Given the description of an element on the screen output the (x, y) to click on. 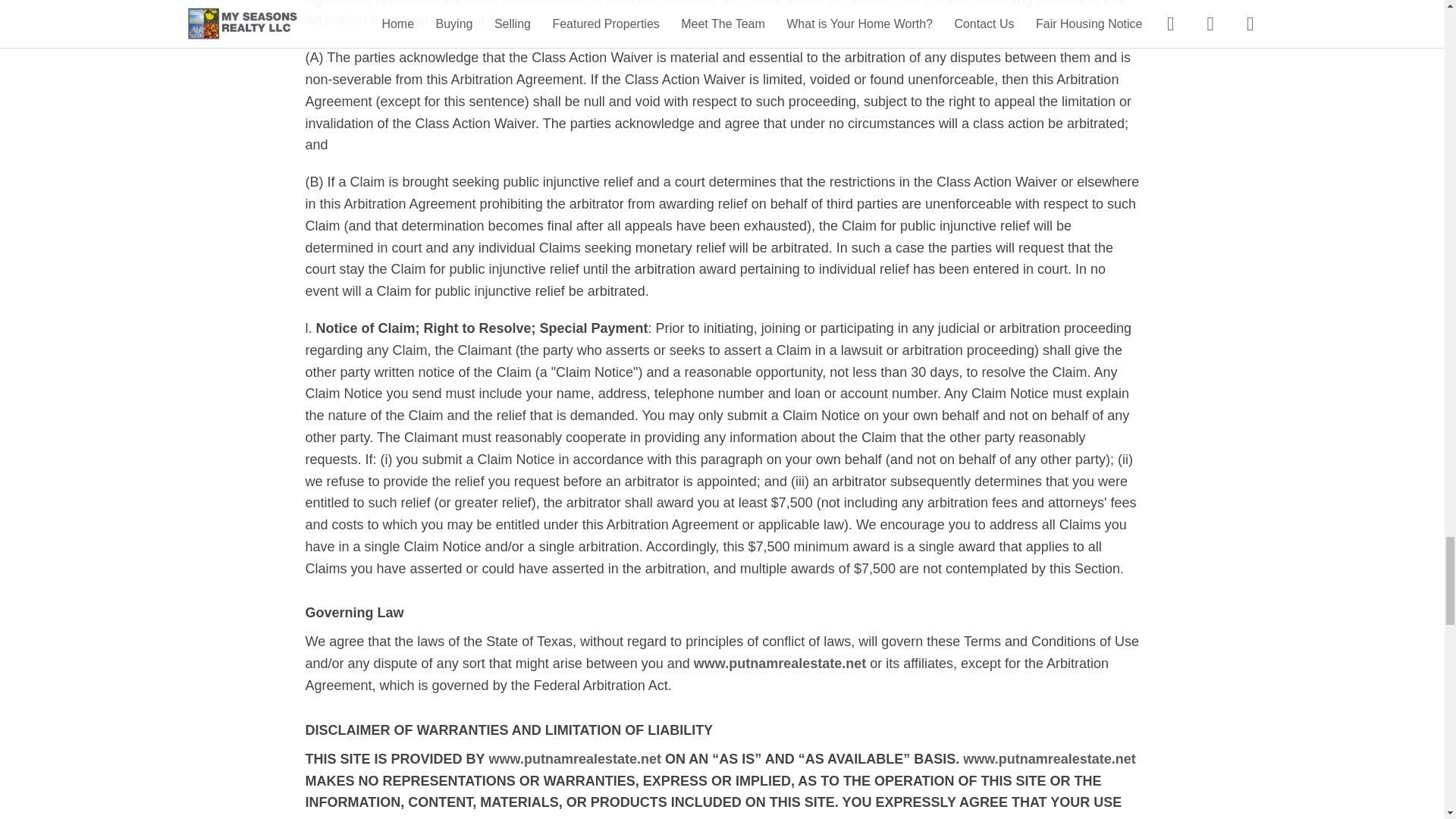
www.putnamrealestate.net (780, 663)
www.putnamrealestate.net (1048, 758)
www.putnamrealestate.net (575, 758)
